Given the description of an element on the screen output the (x, y) to click on. 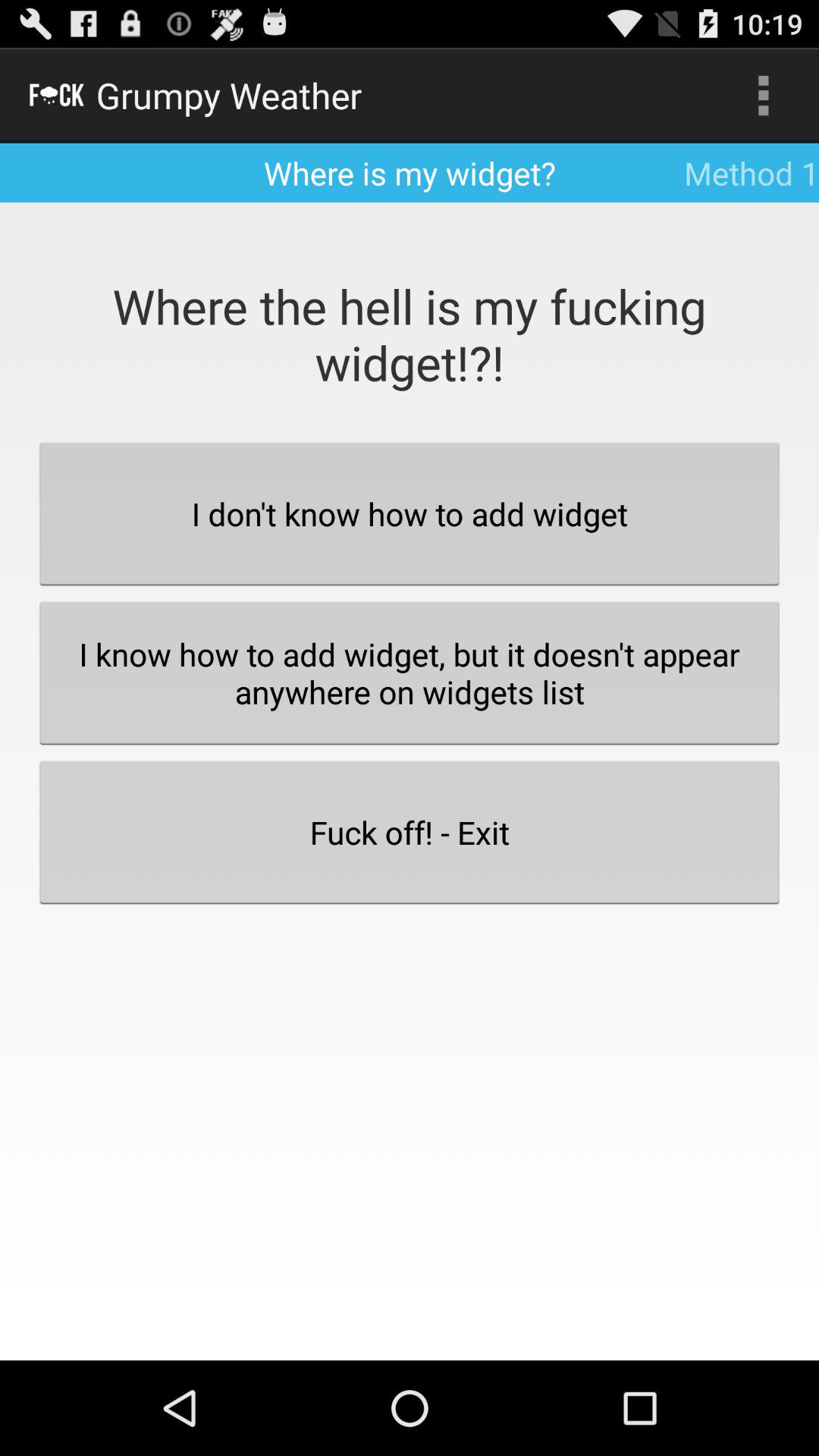
launch item next to the where is my (763, 95)
